Given the description of an element on the screen output the (x, y) to click on. 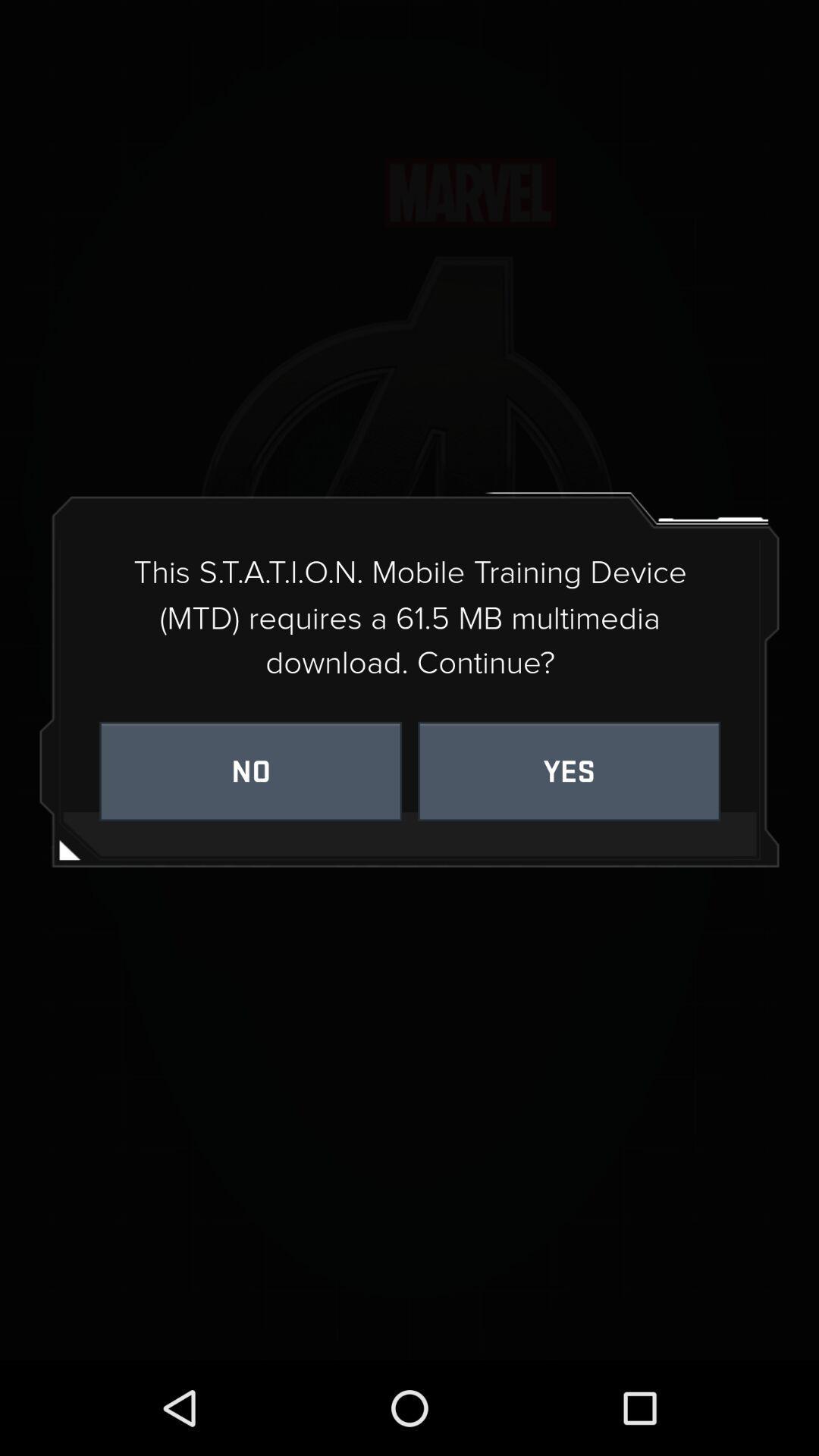
turn on the item to the left of yes (250, 771)
